Given the description of an element on the screen output the (x, y) to click on. 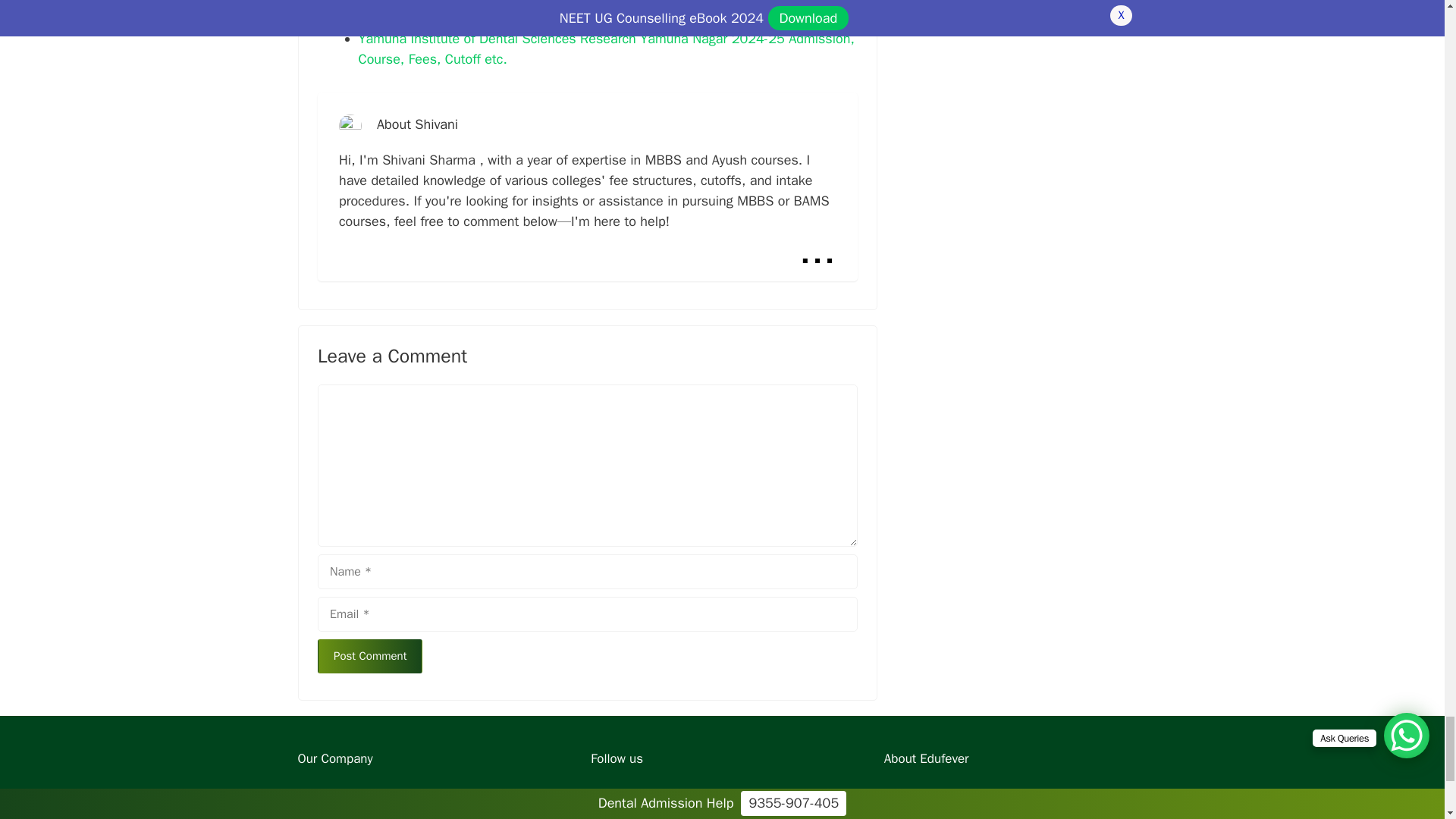
Read more (816, 249)
Post Comment (369, 656)
